Given the description of an element on the screen output the (x, y) to click on. 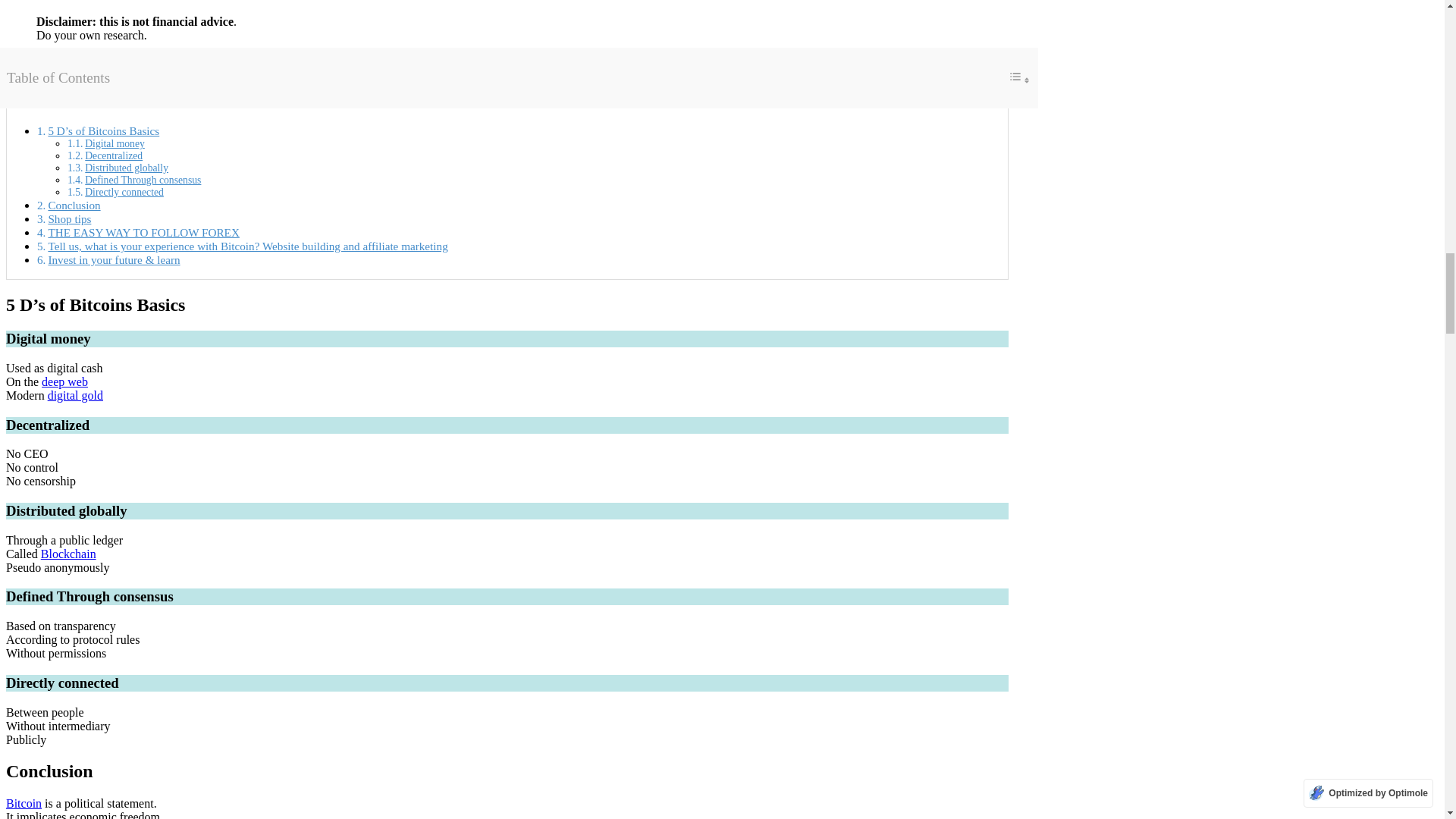
Shop tips (69, 218)
THE EASY WAY TO FOLLOW FOREX (143, 232)
Decentralized (113, 155)
Directly connected (123, 192)
Distributed globally (126, 167)
Conclusion (74, 205)
Defined Through consensus (142, 179)
Digital money (114, 143)
